Given the description of an element on the screen output the (x, y) to click on. 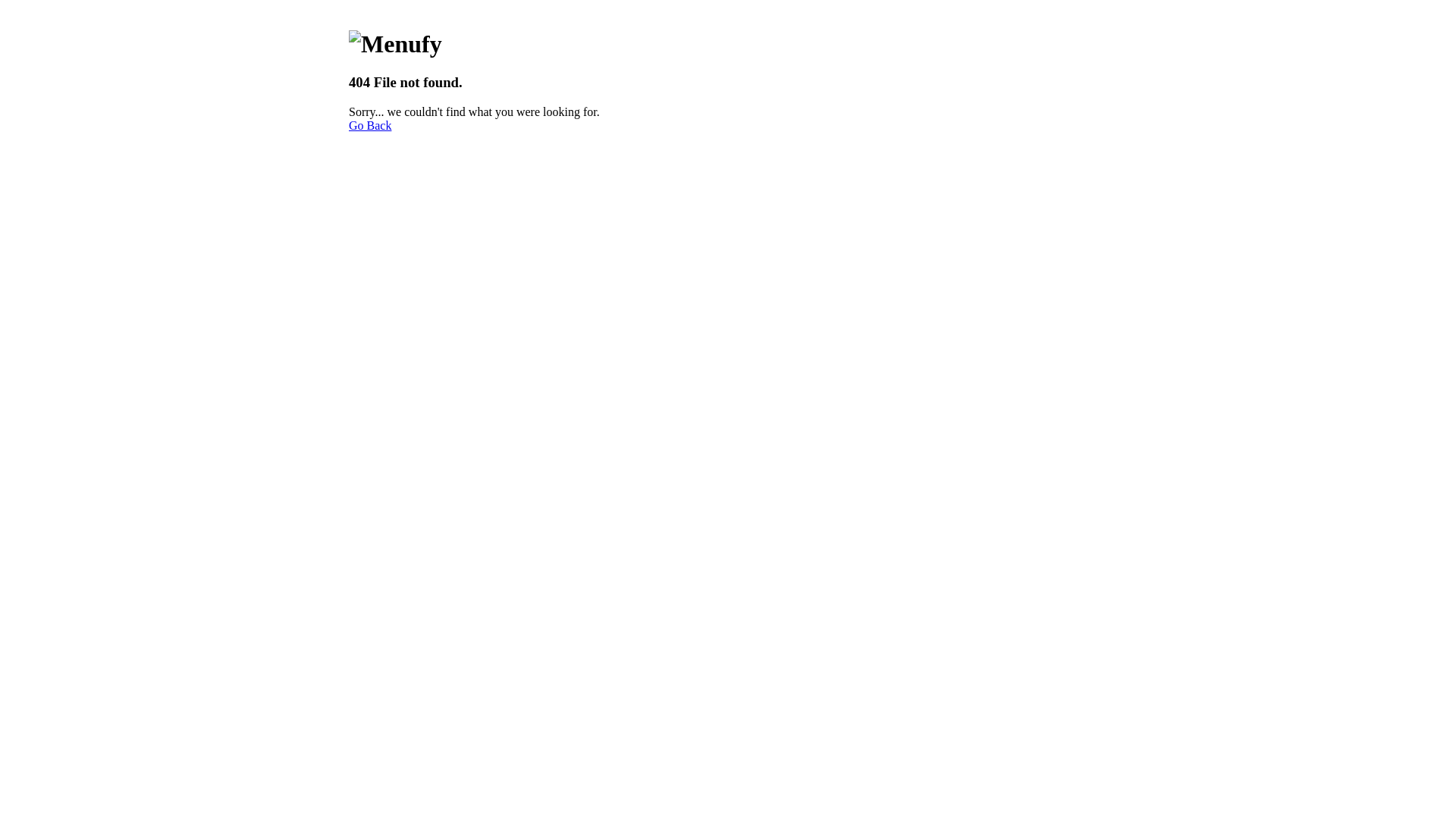
Go Back Element type: text (369, 125)
